Given the description of an element on the screen output the (x, y) to click on. 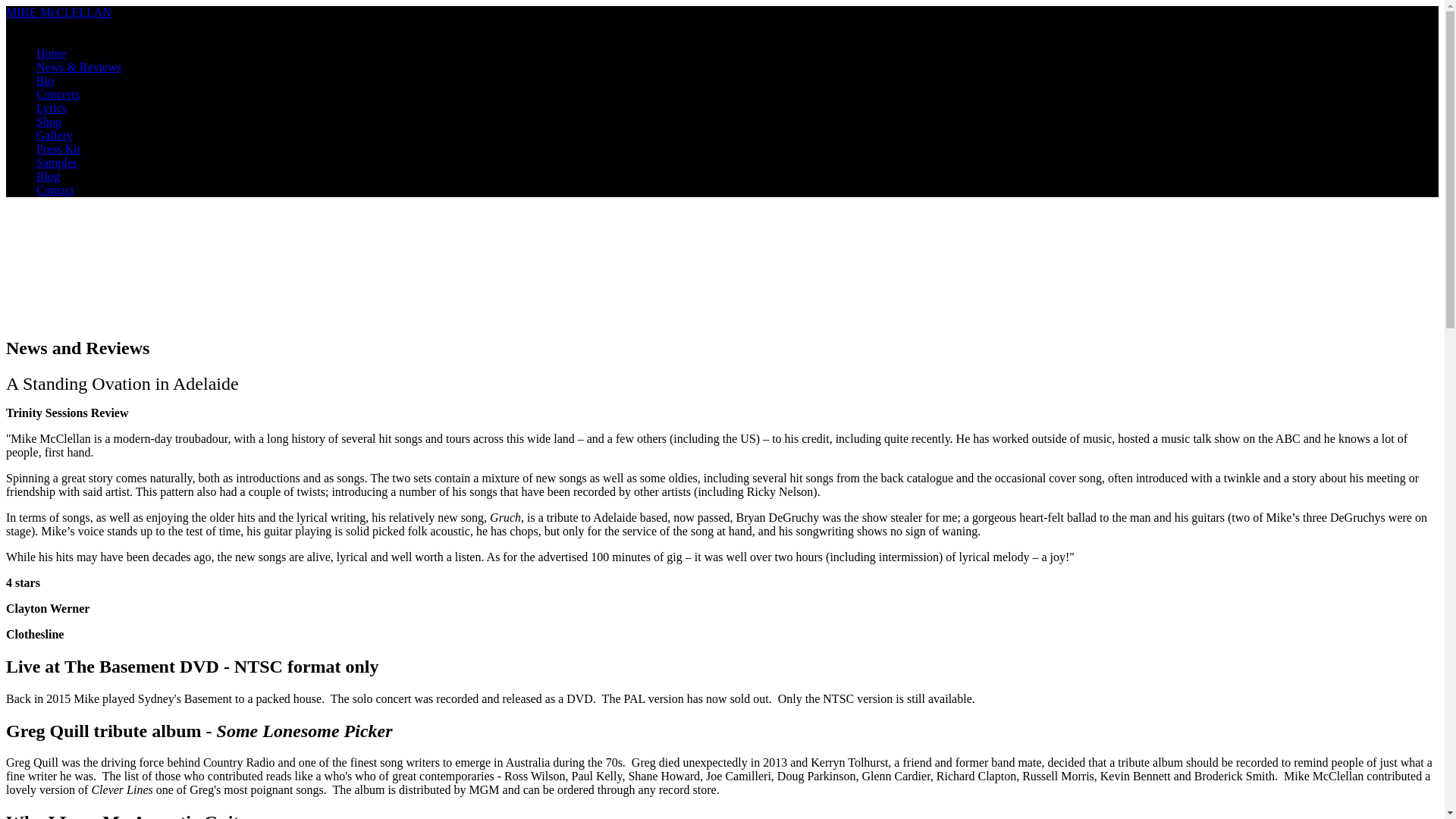
Lyrics Element type: text (51, 107)
Bio Element type: text (44, 80)
Contact Element type: text (55, 189)
Shop Element type: text (48, 121)
Press Kit Element type: text (58, 148)
Blog Element type: text (47, 175)
Concerts Element type: text (57, 93)
MIKE McCLELLAN Element type: text (58, 12)
Samples Element type: text (56, 162)
Gallery Element type: text (54, 134)
News & Reviews Element type: text (78, 66)
Home Element type: text (50, 53)
